Given the description of an element on the screen output the (x, y) to click on. 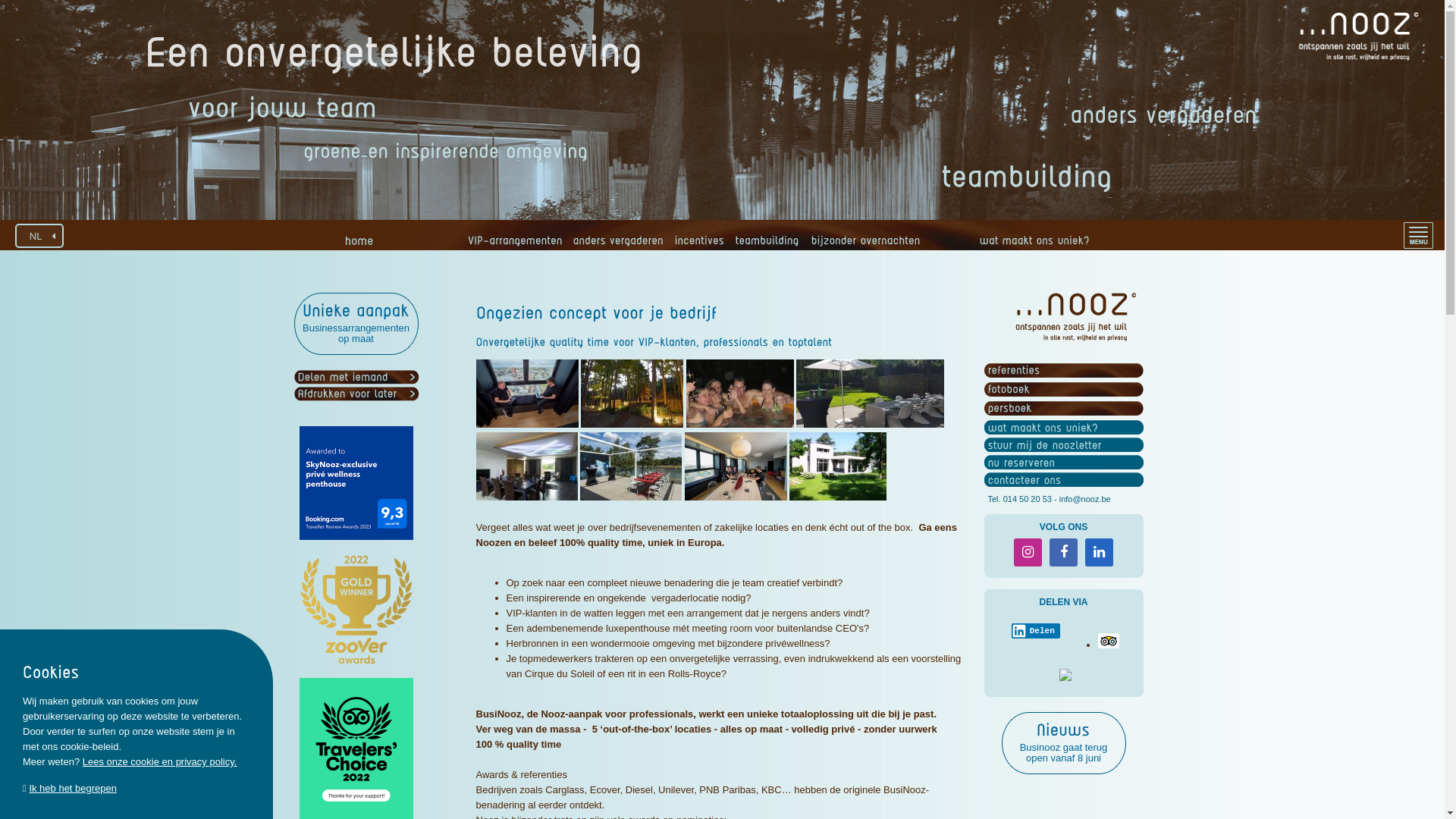
home Element type: text (358, 240)
VIP-arrangementen Element type: text (513, 244)
Instagram Element type: hover (1027, 552)
Ik heb het begrepen Element type: text (72, 787)
Afdrukken voor later Element type: text (346, 393)
persboek Element type: text (1009, 408)
contacteer ons Element type: text (1023, 479)
LinkedIn Element type: hover (1099, 552)
incentives Element type: text (697, 244)
info@nooz.be Element type: text (1084, 498)
referenties Element type: text (1013, 370)
bijzonder overnachten Element type: text (862, 244)
teambuilding Element type: text (765, 244)
Lees onze cookie en privacy policy. Element type: text (159, 761)
Unieke aanpak
Businessarrangementen op maat Element type: text (356, 323)
wat maakt ons uniek? Element type: text (1032, 244)
Delen Element type: text (1035, 630)
stuur mij de noozletter Element type: text (1044, 444)
anders vergaderen Element type: text (616, 244)
Delen met iemand Element type: text (342, 377)
Nieuws
Businooz gaat terug open vanaf 8 juni Element type: text (1063, 743)
nu reserveren Element type: text (1020, 462)
wat maakt ons uniek? Element type: text (1042, 427)
Facebook Element type: hover (1063, 552)
fotoboek Element type: text (1008, 389)
